Given the description of an element on the screen output the (x, y) to click on. 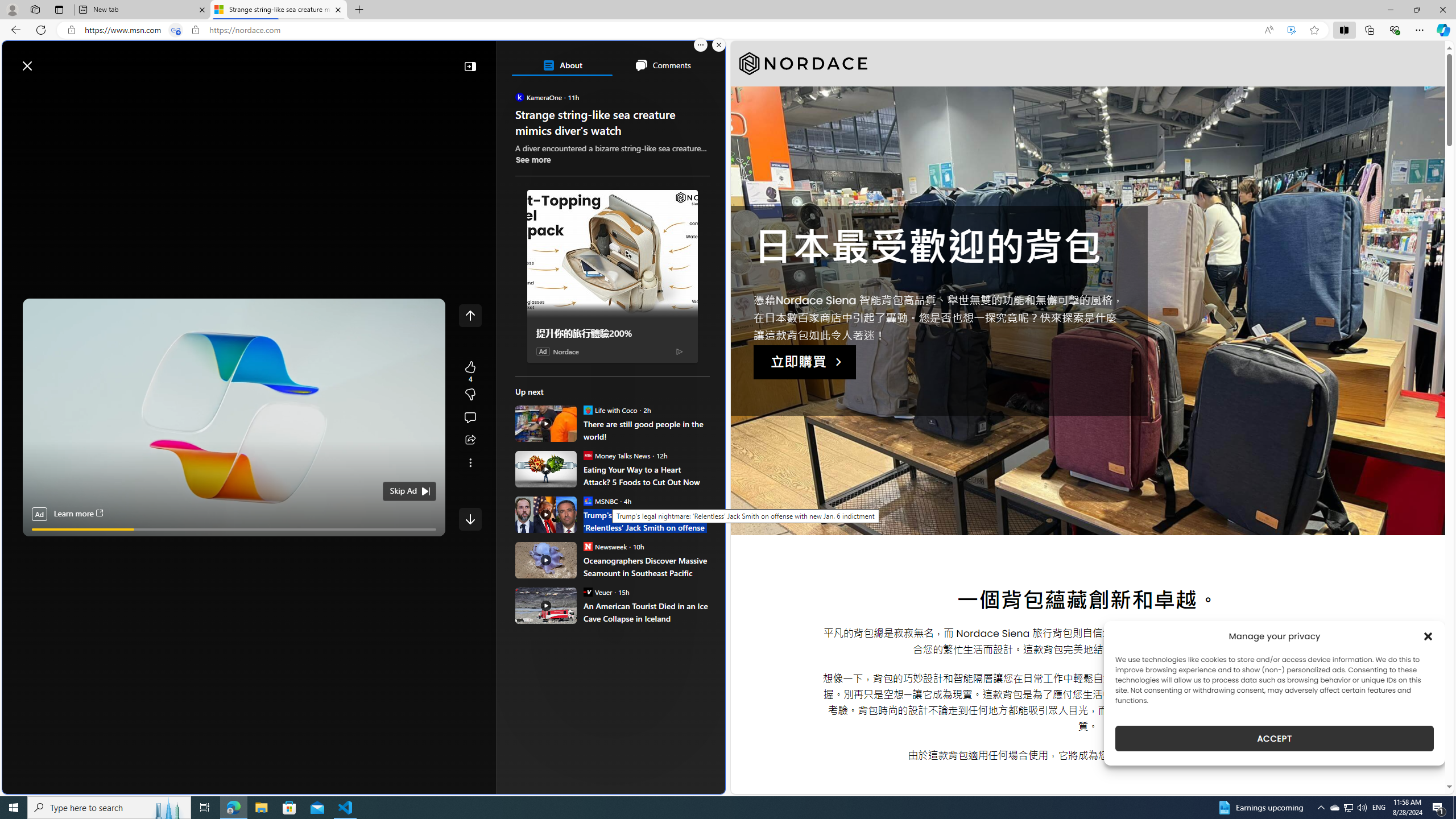
MSNBC MSNBC (600, 500)
Life with Coco Life with Coco (609, 409)
Skip to content (49, 59)
Web search (161, 60)
Share this story (469, 440)
Refresh (40, 29)
Enhance video (1291, 29)
Unmute (430, 543)
KameraOne (519, 96)
Workspaces (34, 9)
Microsoft rewards (654, 60)
Ad (542, 351)
Open navigation menu (16, 92)
Class: control icon-only (469, 315)
